Given the description of an element on the screen output the (x, y) to click on. 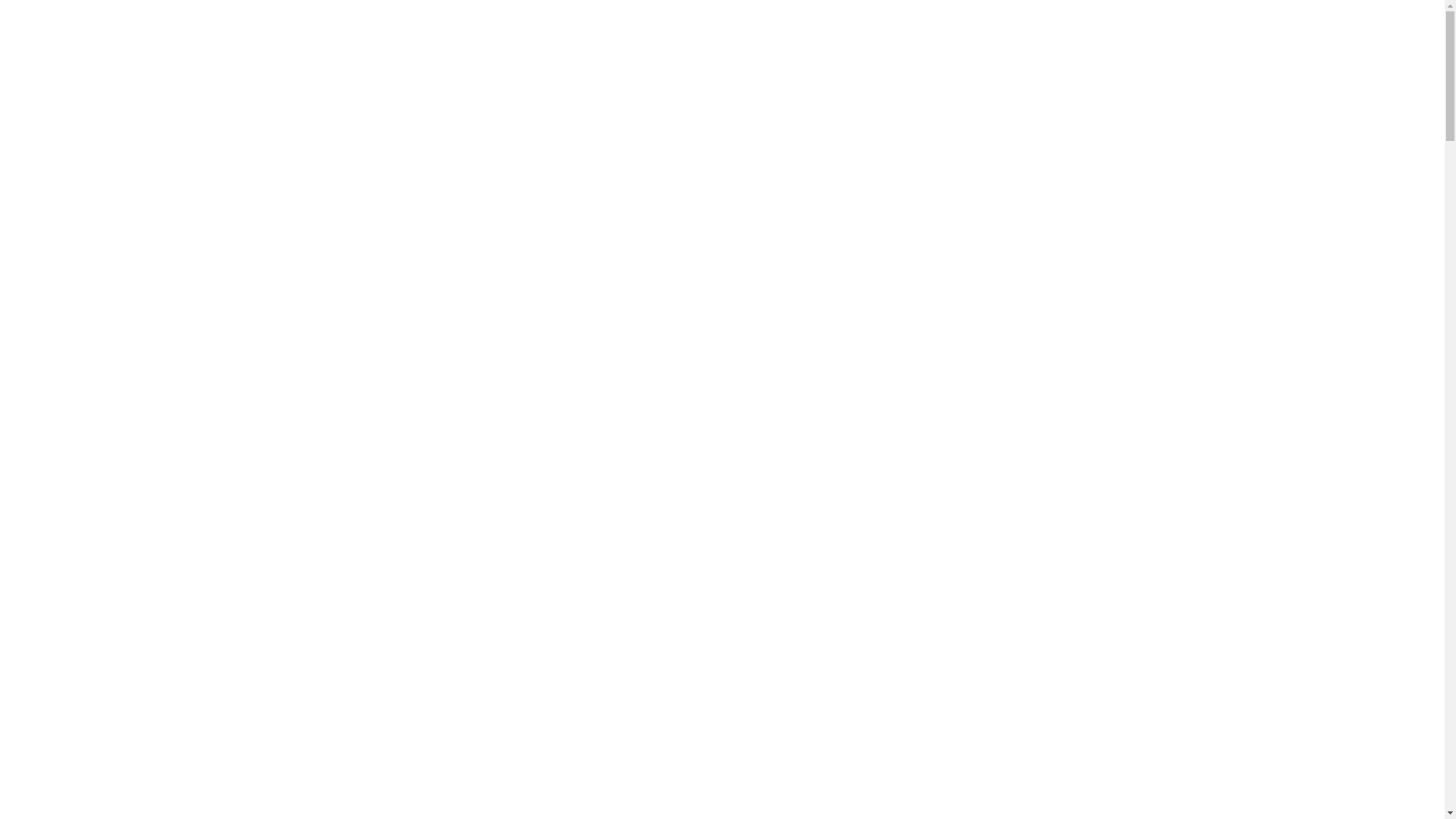
info@horizongroupe.com Element type: text (485, 8)
+32 4 223 37 35 Element type: text (342, 8)
